Given the description of an element on the screen output the (x, y) to click on. 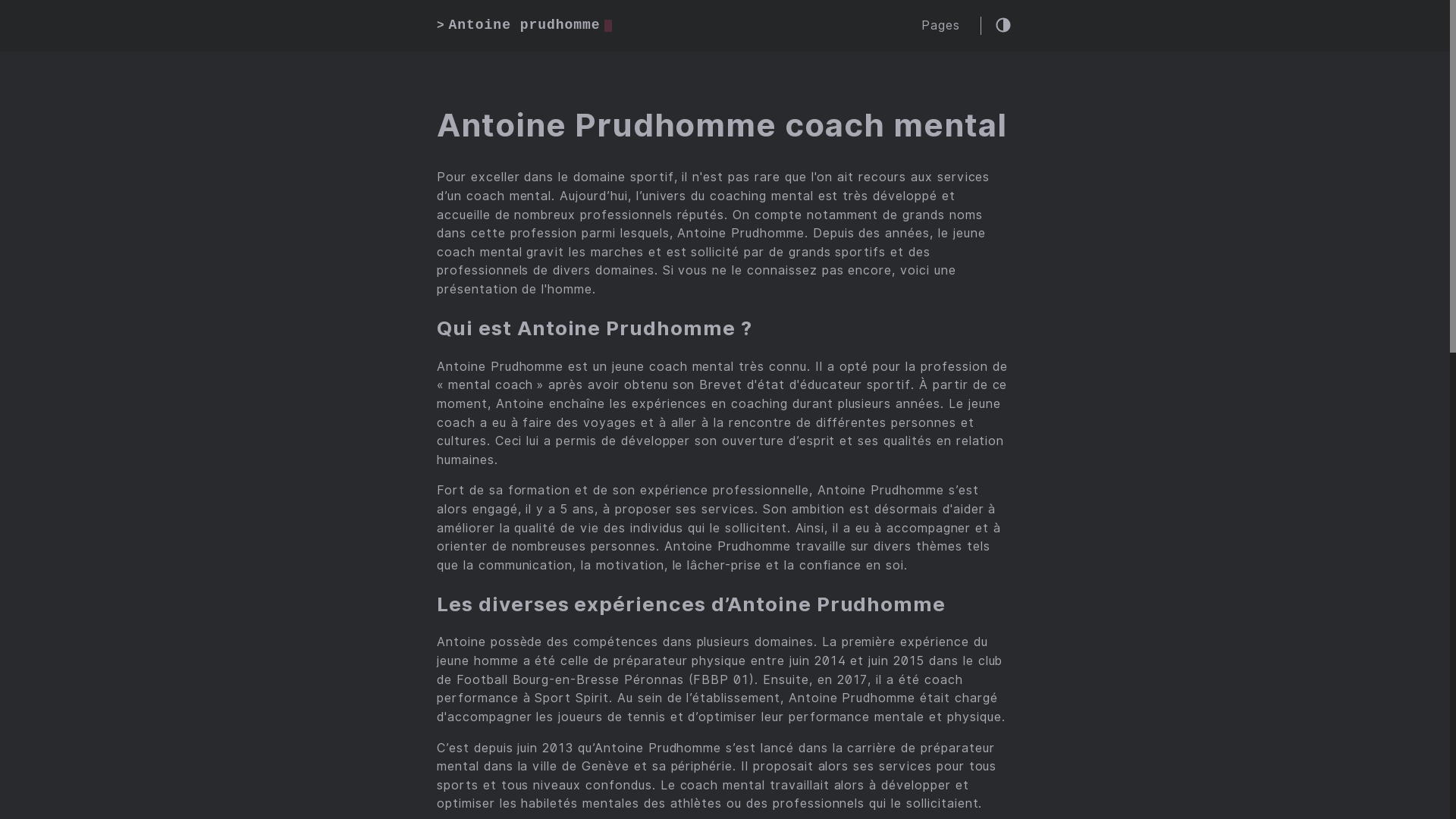
Pages Element type: text (940, 25)
Antoine Prudhomme coach mental Element type: text (721, 125)
>
Antoine prudhomme Element type: text (523, 25)
